Given the description of an element on the screen output the (x, y) to click on. 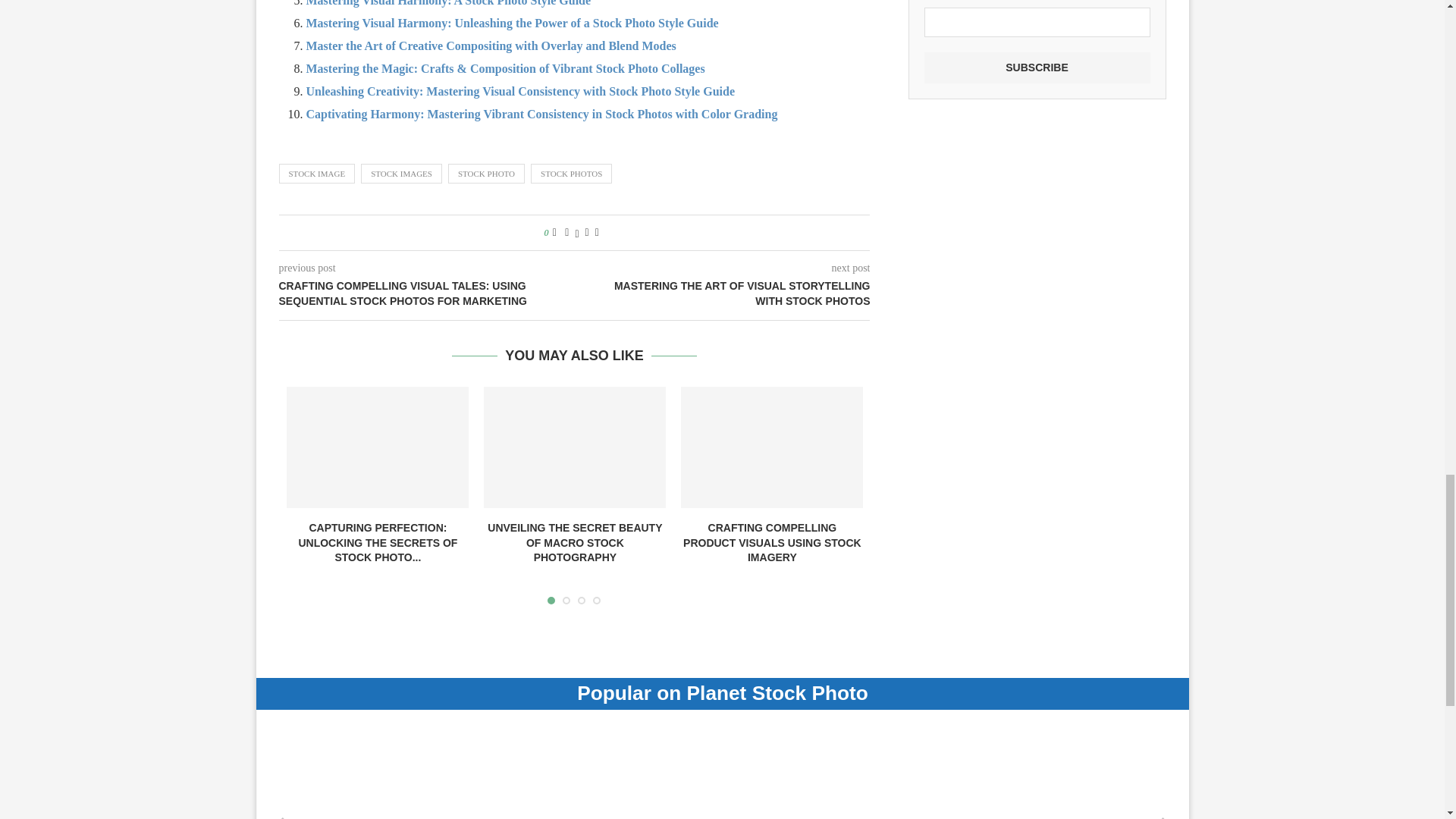
Mastering Visual Harmony: A Stock Photo Style Guide (448, 3)
STOCK IMAGE (317, 173)
Mastering Visual Harmony: A Stock Photo Style Guide (448, 3)
Subscribe (1036, 67)
